Given the description of an element on the screen output the (x, y) to click on. 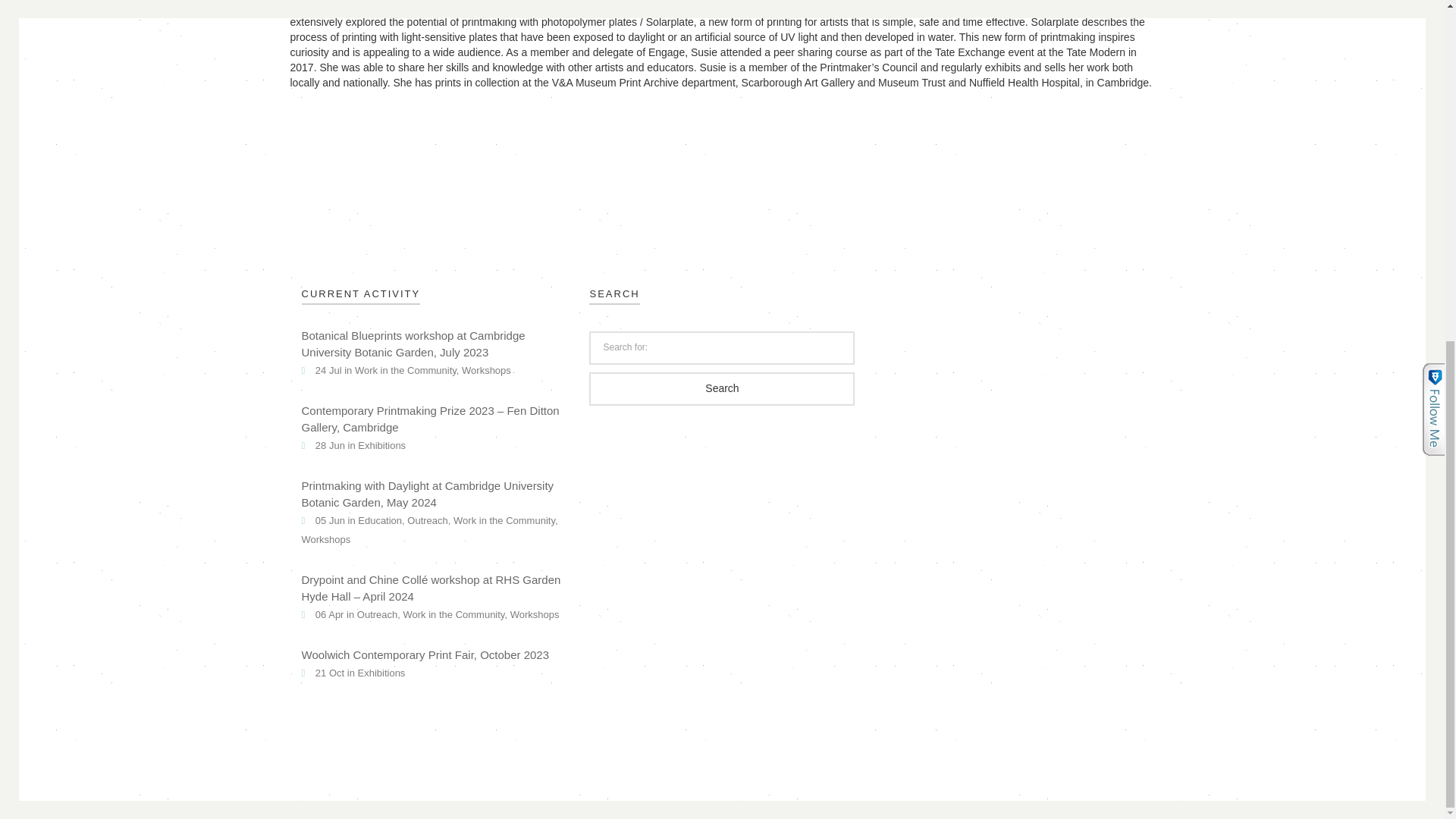
Woolwich Contemporary Print Fair, October 2023 (425, 656)
Workshops (535, 616)
Work in the Community (406, 372)
Outreach (426, 522)
Search (721, 388)
Outreach (376, 616)
Work in the Community (454, 616)
Exhibitions (382, 447)
Exhibitions (382, 674)
Education (379, 522)
Workshops (325, 540)
Search (721, 388)
Work in the Community (503, 522)
